Given the description of an element on the screen output the (x, y) to click on. 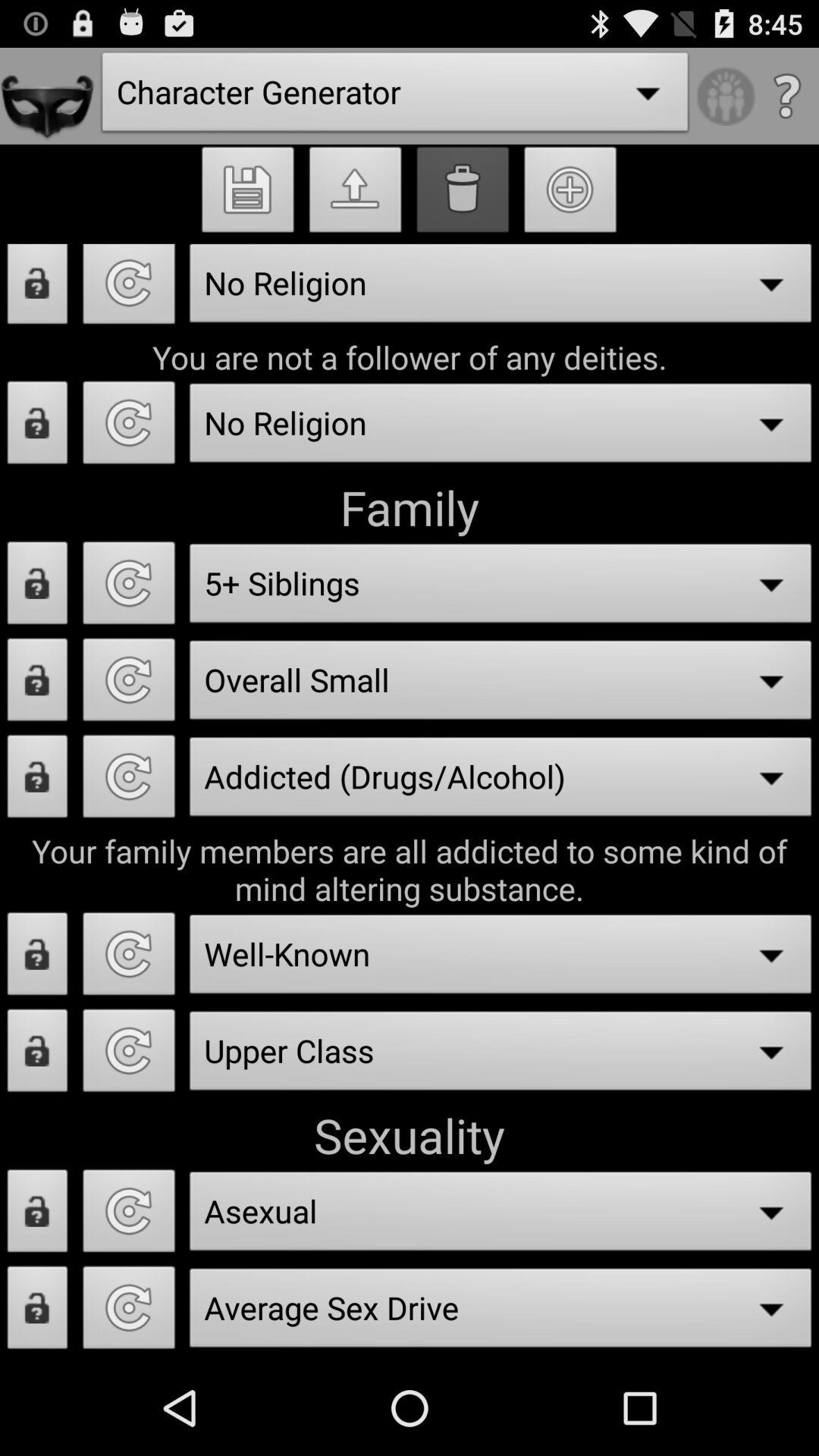
password (37, 958)
